Given the description of an element on the screen output the (x, y) to click on. 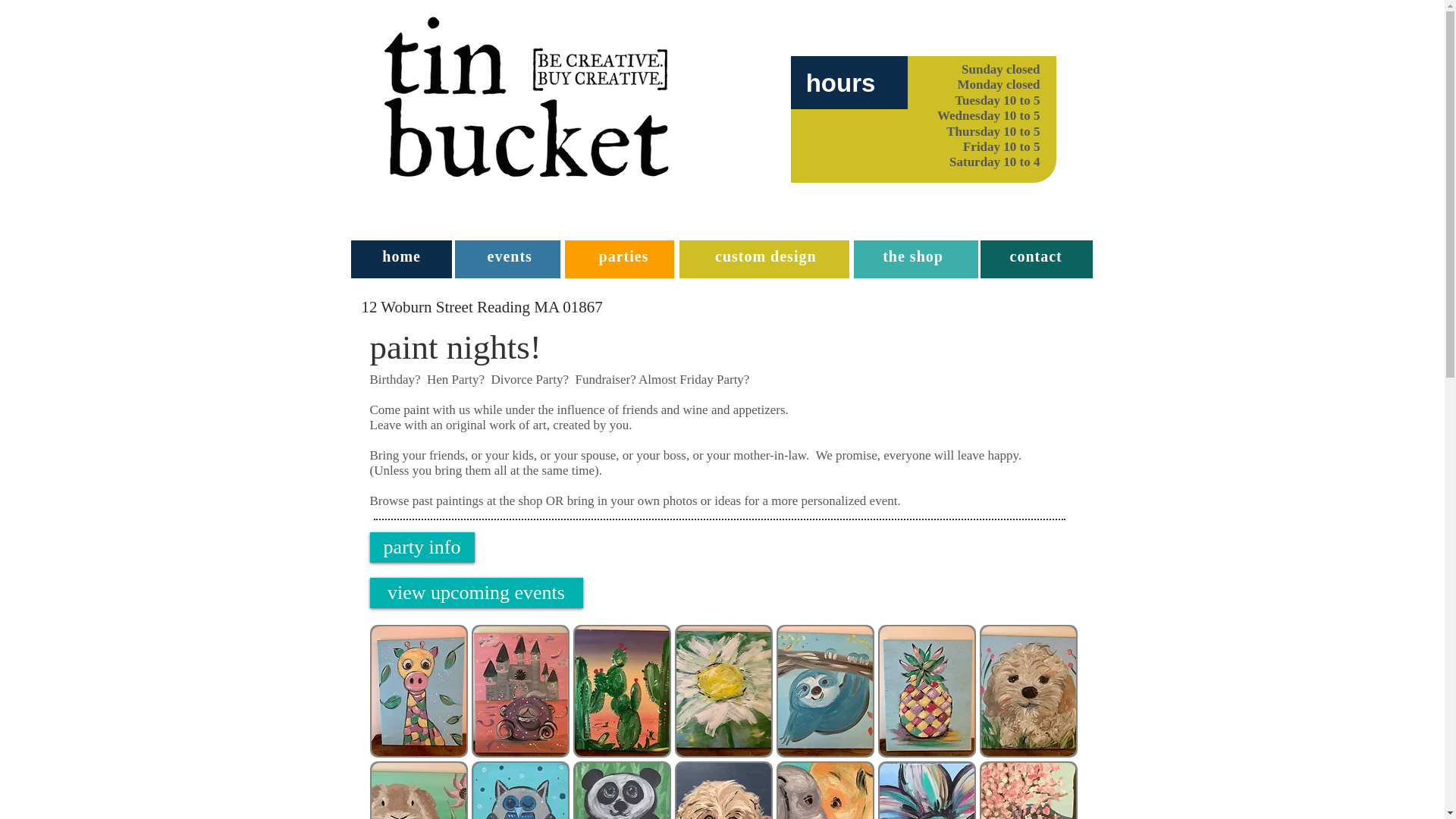
view upcoming events (476, 593)
the shop (912, 256)
custom design (764, 256)
home (400, 256)
party info (421, 547)
events (509, 256)
contact (1036, 256)
logobackground.png (526, 97)
